Given the description of an element on the screen output the (x, y) to click on. 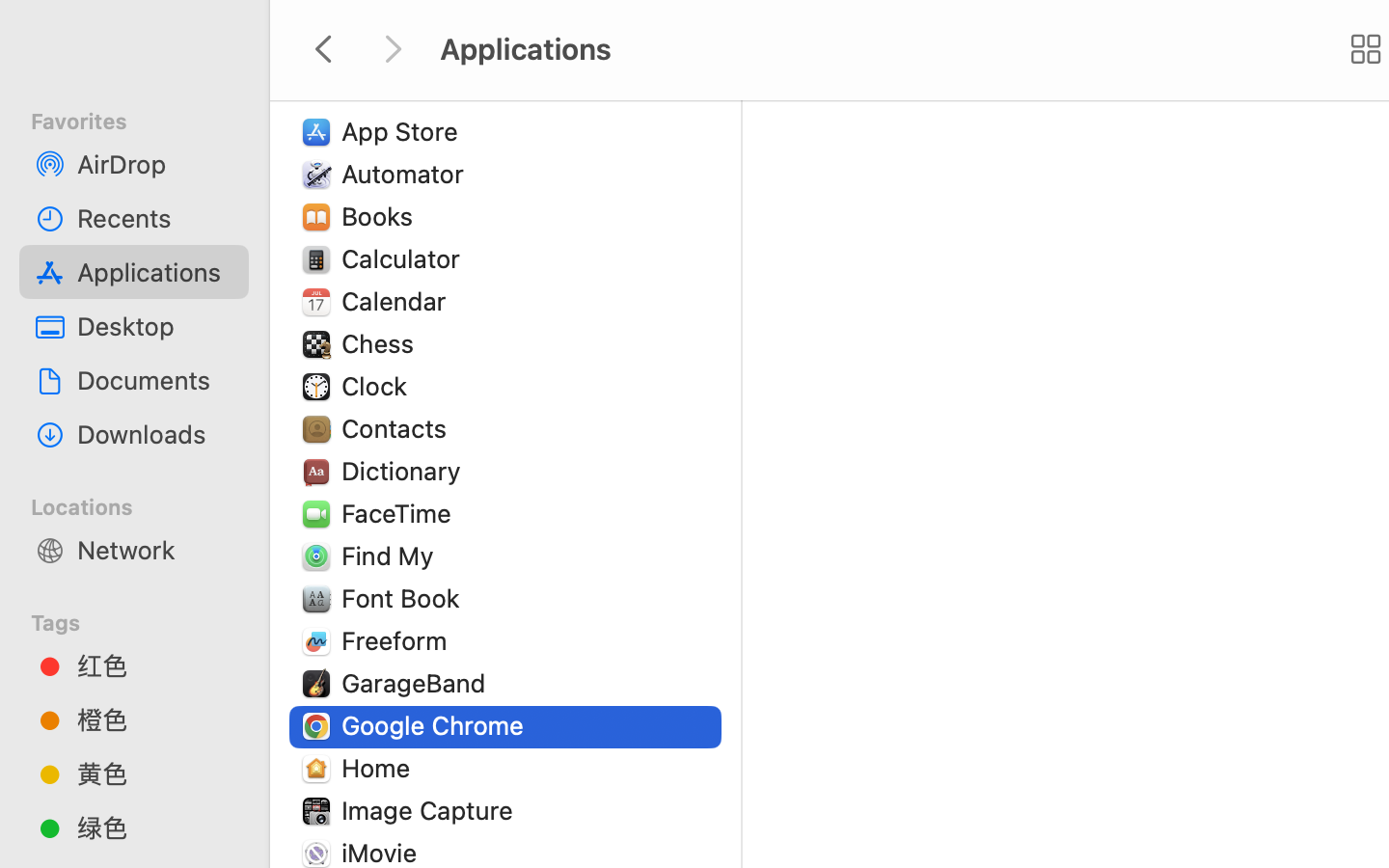
Find My Element type: AXTextField (391, 555)
Calendar Element type: AXTextField (398, 300)
Downloads Element type: AXStaticText (155, 433)
Freeform Element type: AXTextField (398, 639)
Contacts Element type: AXTextField (398, 427)
